Given the description of an element on the screen output the (x, y) to click on. 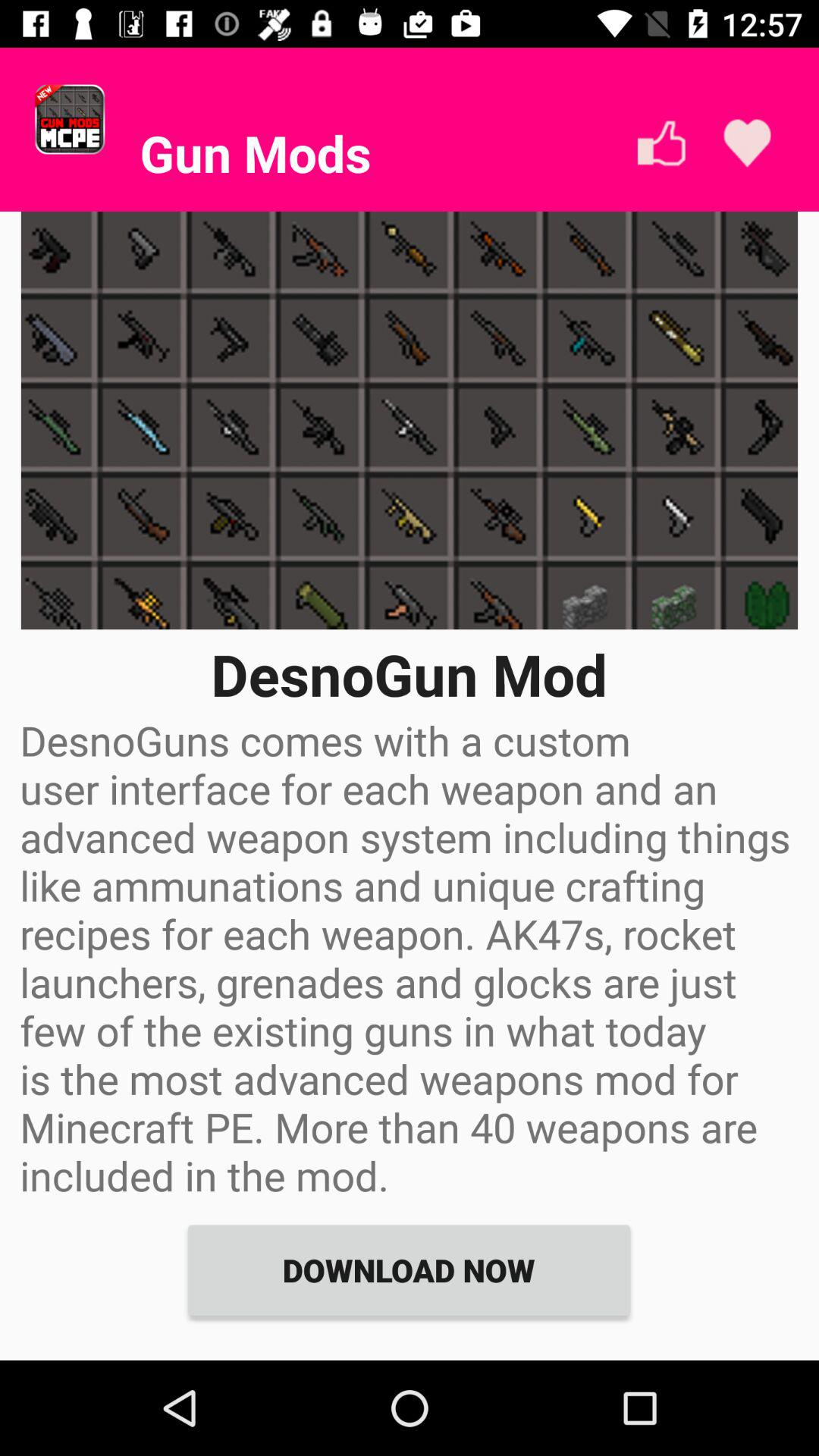
swipe to download now (409, 1270)
